Given the description of an element on the screen output the (x, y) to click on. 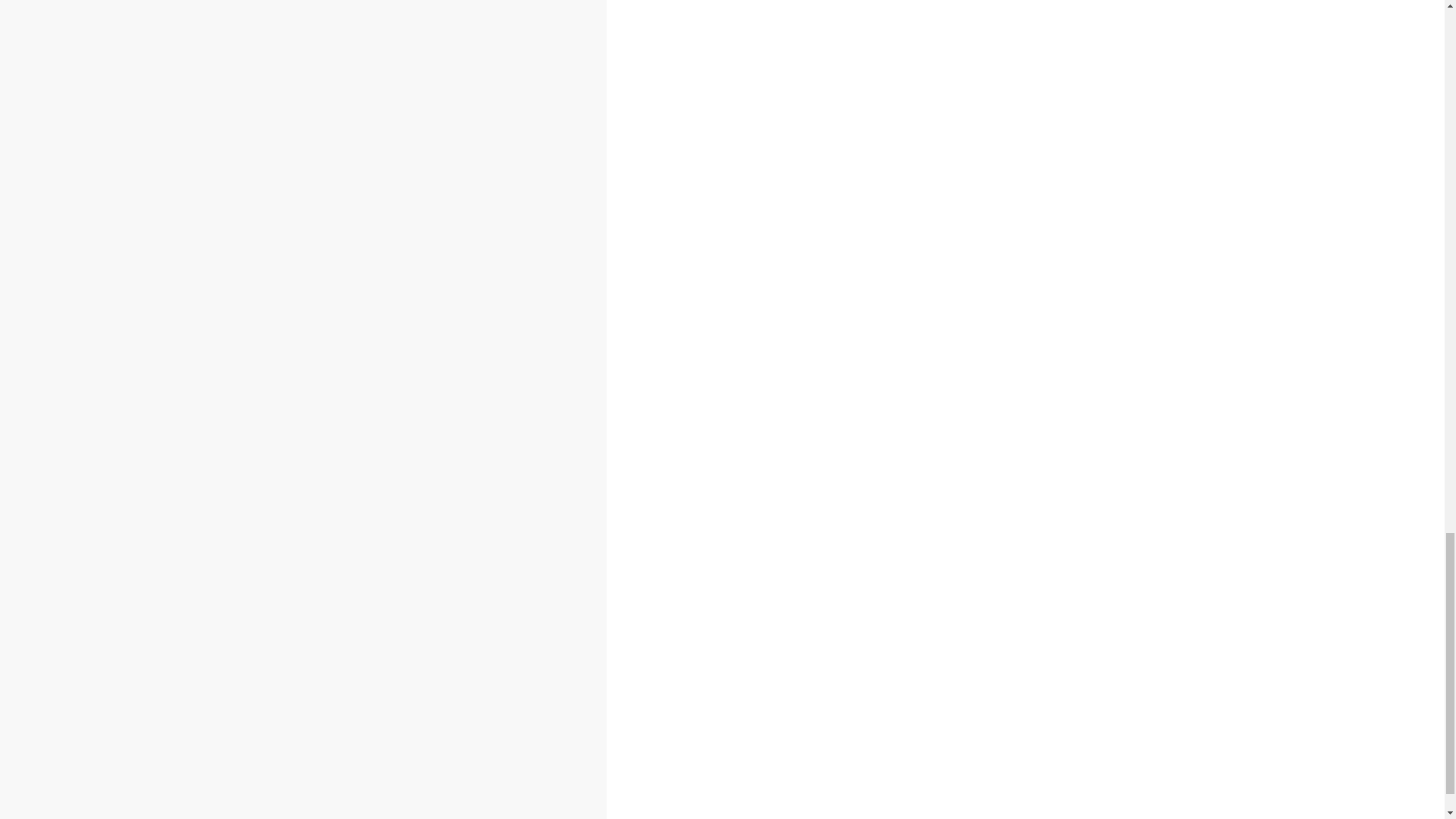
Wednesday (129, 442)
February 2024 (281, 13)
December 2023 (286, 47)
January 2024 (279, 29)
October 2023 (279, 80)
June 2022 (271, 353)
September 2022 (288, 302)
Friday (180, 442)
June 2023 (271, 149)
October 2022 (279, 284)
